Given the description of an element on the screen output the (x, y) to click on. 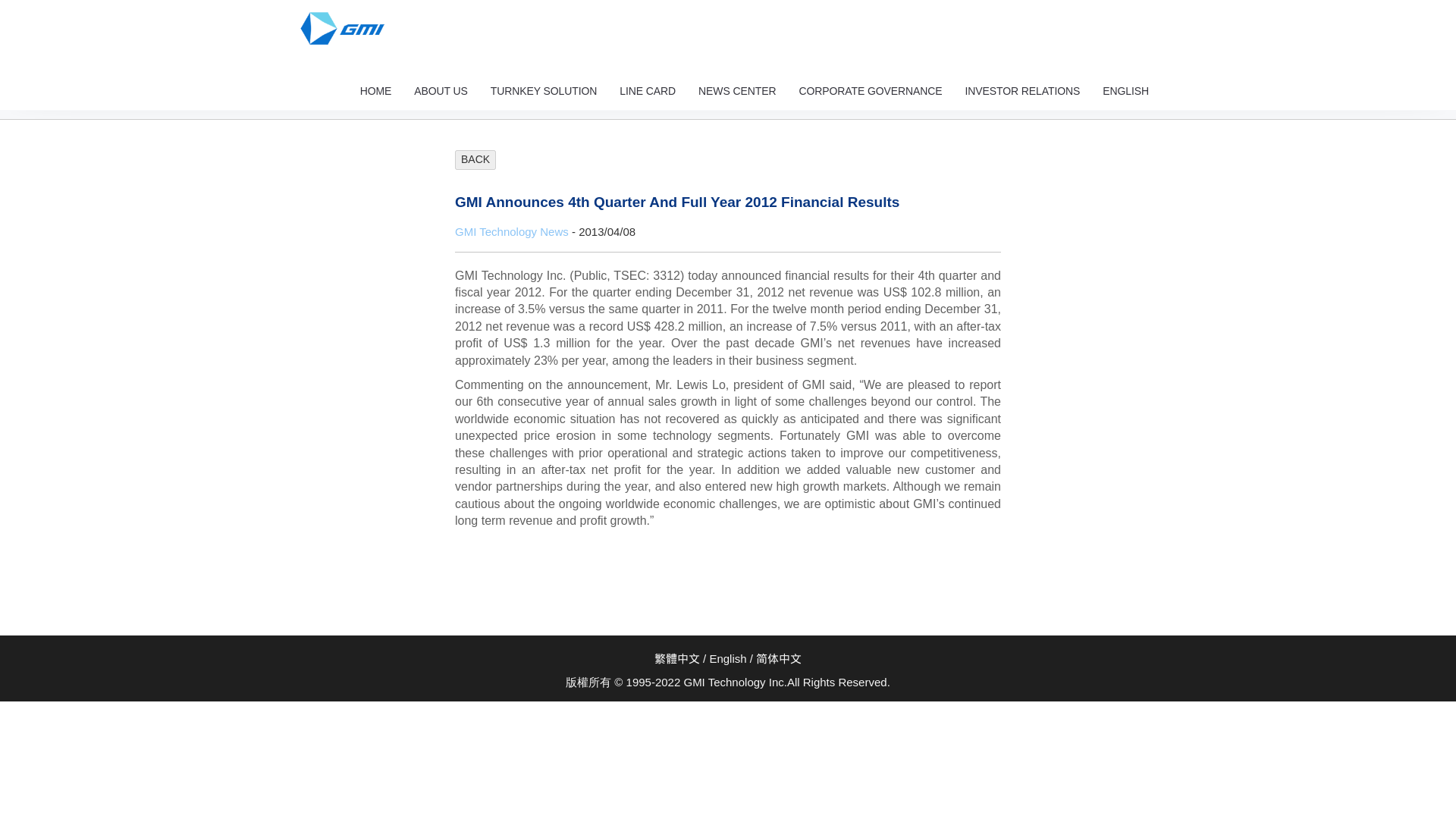
LINE CARD (647, 90)
INVESTOR RELATIONS (1022, 90)
HOME (376, 90)
ABOUT US (441, 90)
NEWS CENTER (737, 90)
English (1125, 90)
CORPORATE GOVERNANCE (870, 90)
TURNKEY SOLUTION (543, 90)
